Given the description of an element on the screen output the (x, y) to click on. 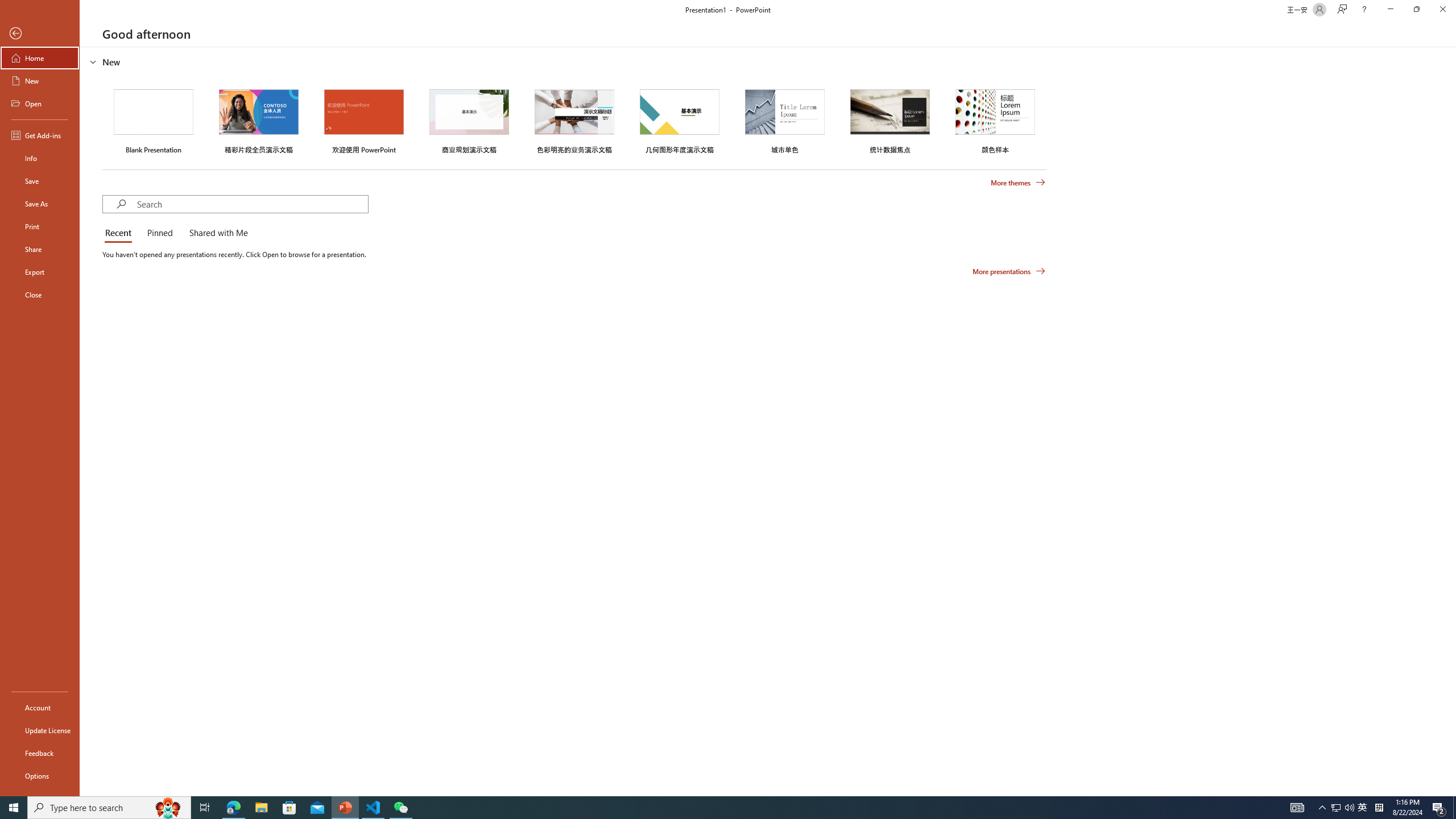
Print (40, 225)
Blank Presentation (153, 119)
Shared with Me (215, 233)
Back (40, 33)
Get Add-ins (40, 134)
Info (40, 157)
Feedback (40, 753)
